Given the description of an element on the screen output the (x, y) to click on. 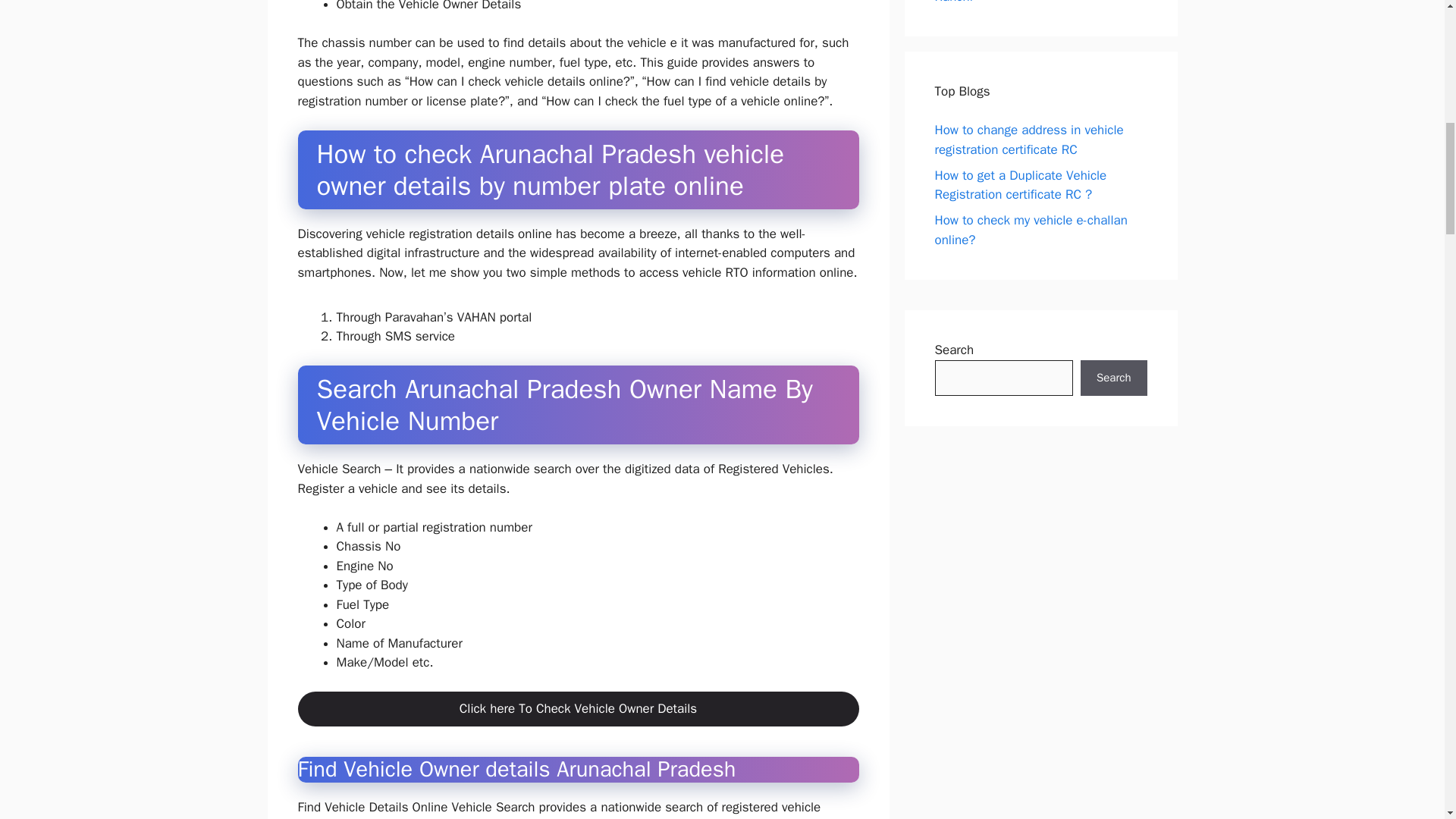
How to check my vehicle e-challan online? (1030, 230)
How to change address in vehicle registration certificate RC (1028, 140)
How to get a Duplicate Vehicle Registration certificate RC ? (1020, 185)
Search (1113, 378)
Click here To Check Vehicle Owner Details (578, 708)
